Given the description of an element on the screen output the (x, y) to click on. 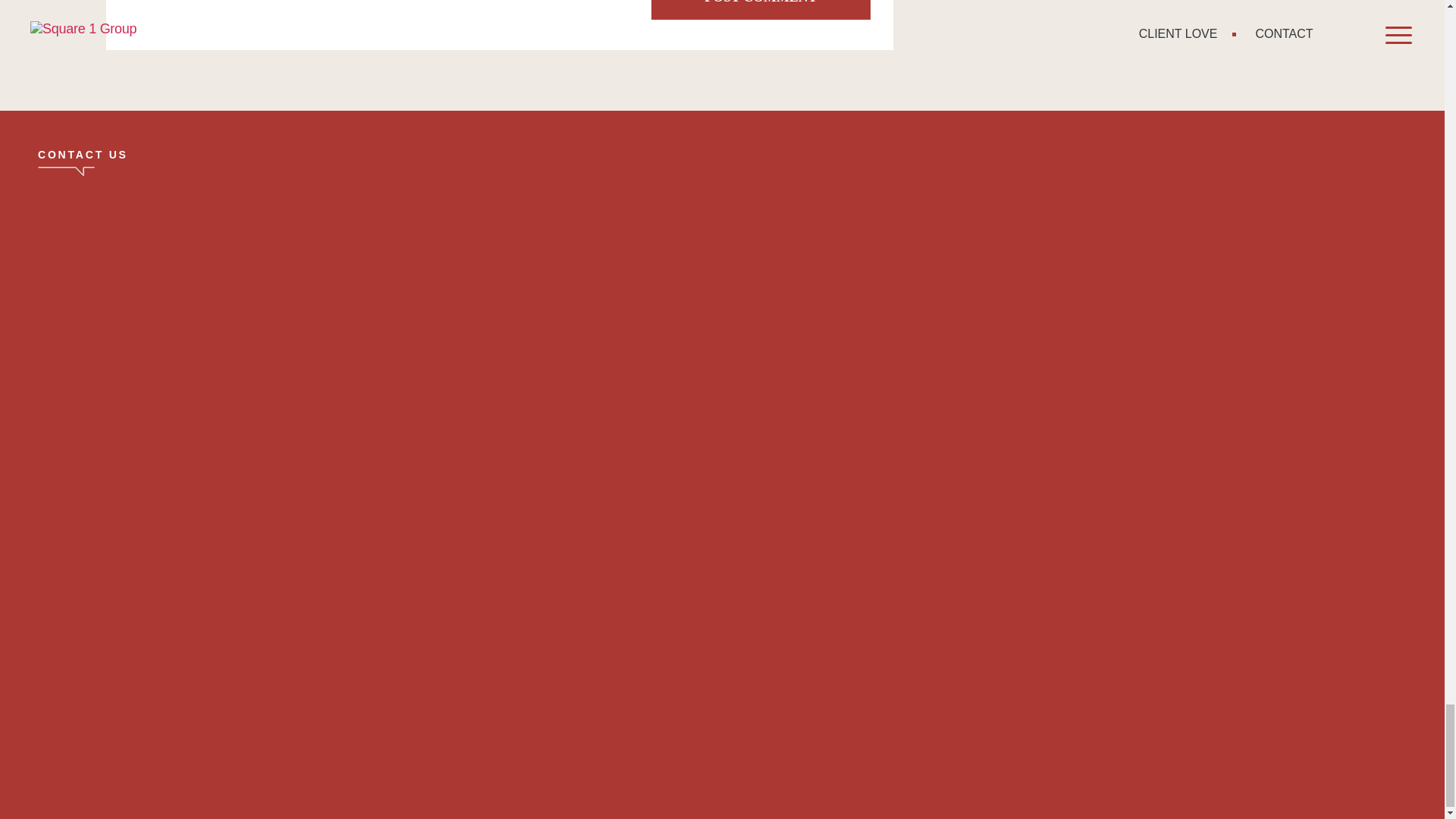
Submit (1000, 461)
Post Comment (760, 9)
Post Comment (760, 9)
